Given the description of an element on the screen output the (x, y) to click on. 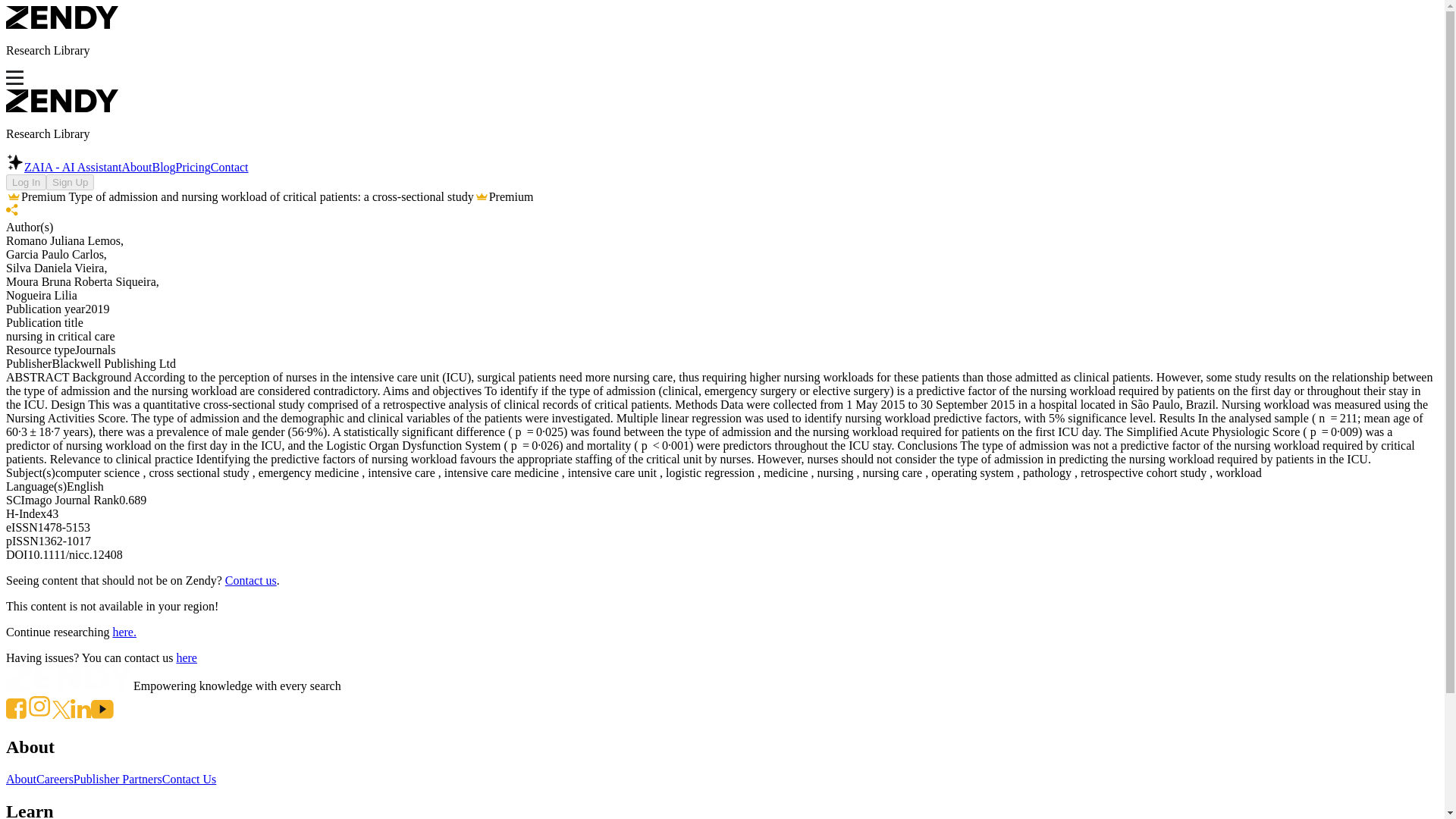
here (186, 657)
Contact Us (188, 779)
Sign Up (70, 182)
Pricing (193, 166)
About (20, 779)
ZAIA - AI Assistant (62, 166)
Contact us (250, 580)
Careers (55, 779)
Blog (162, 166)
Publisher Partners (117, 779)
